Given the description of an element on the screen output the (x, y) to click on. 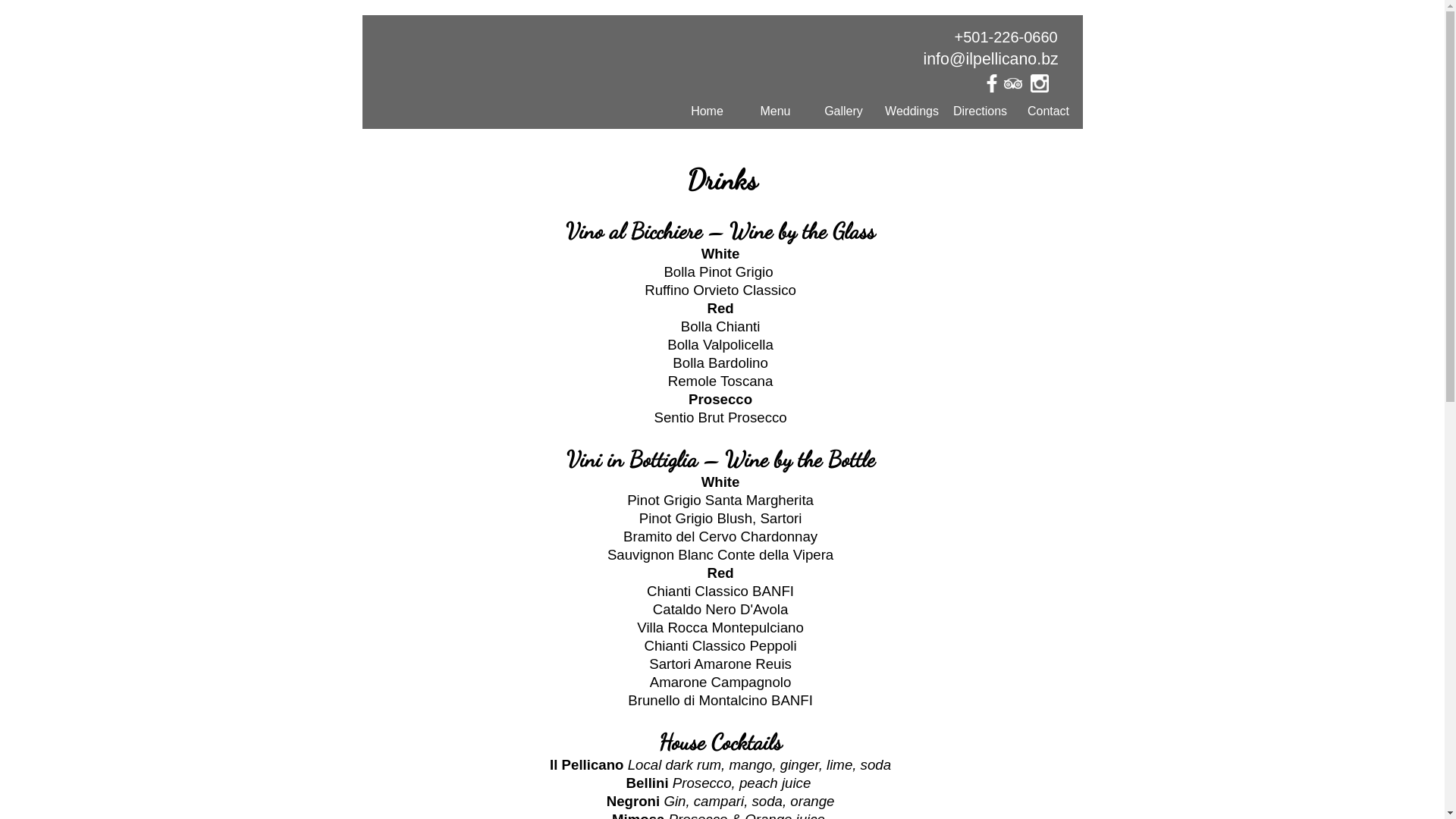
Directions Element type: text (980, 111)
Weddings Element type: text (912, 111)
Menu Element type: text (775, 111)
+501-226-0660 Element type: text (1005, 36)
   Element type: text (1017, 87)
Home Element type: text (707, 111)
Il Pellicano Element type: text (551, 79)
Gallery Element type: text (843, 111)
info@ilpellicano.bz Element type: text (990, 59)
Contact Element type: text (1048, 111)
